Given the description of an element on the screen output the (x, y) to click on. 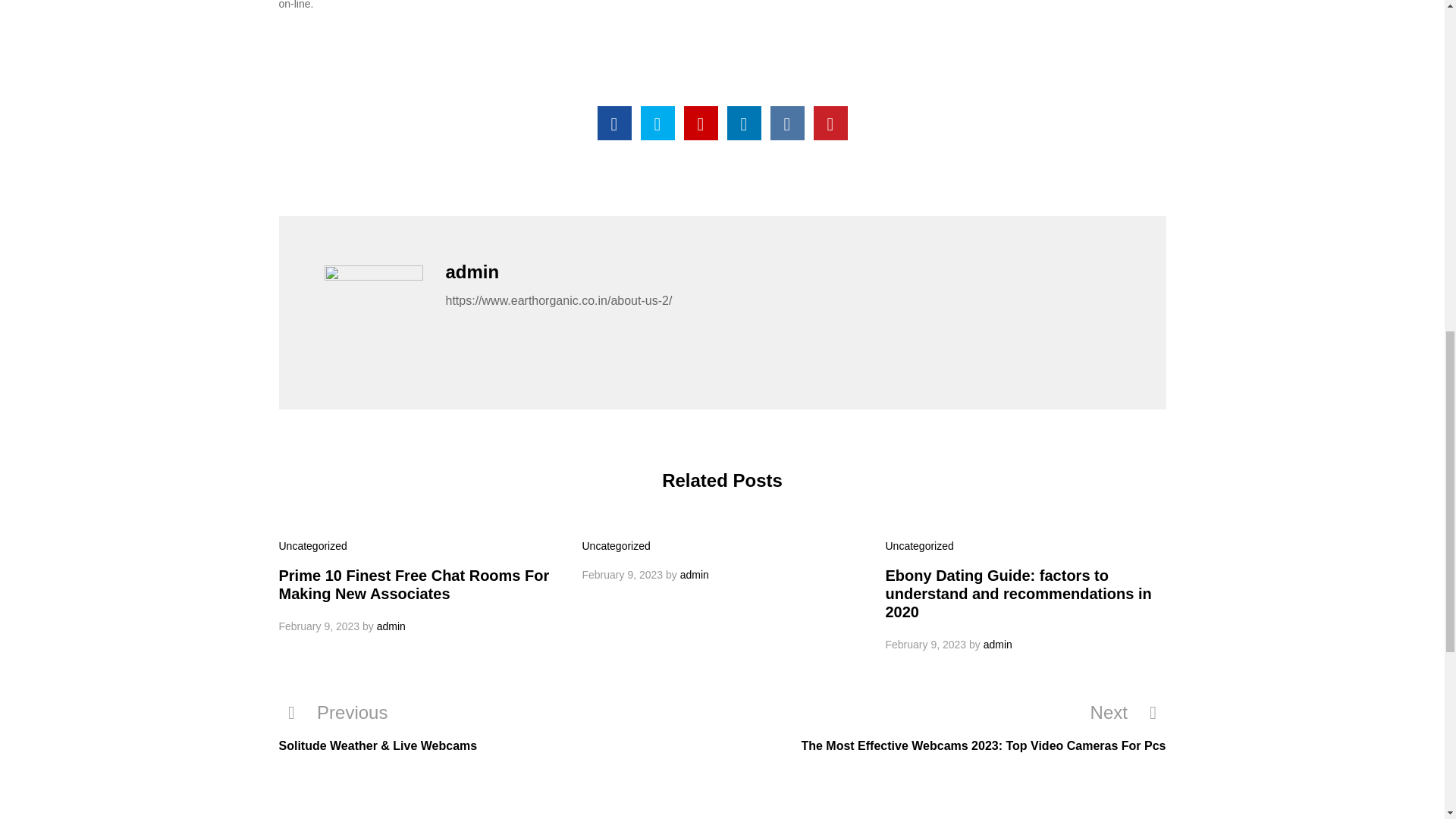
Uncategorized (919, 545)
February 9, 2023 (622, 574)
admin (694, 574)
Prime 10 Finest Free Chat Rooms For Making New Associates (414, 584)
Uncategorized (313, 545)
Random Chat Business Explodes In 2016, Research Reveals (613, 123)
February 9, 2023 (319, 625)
admin (391, 625)
Uncategorized (616, 545)
